Given the description of an element on the screen output the (x, y) to click on. 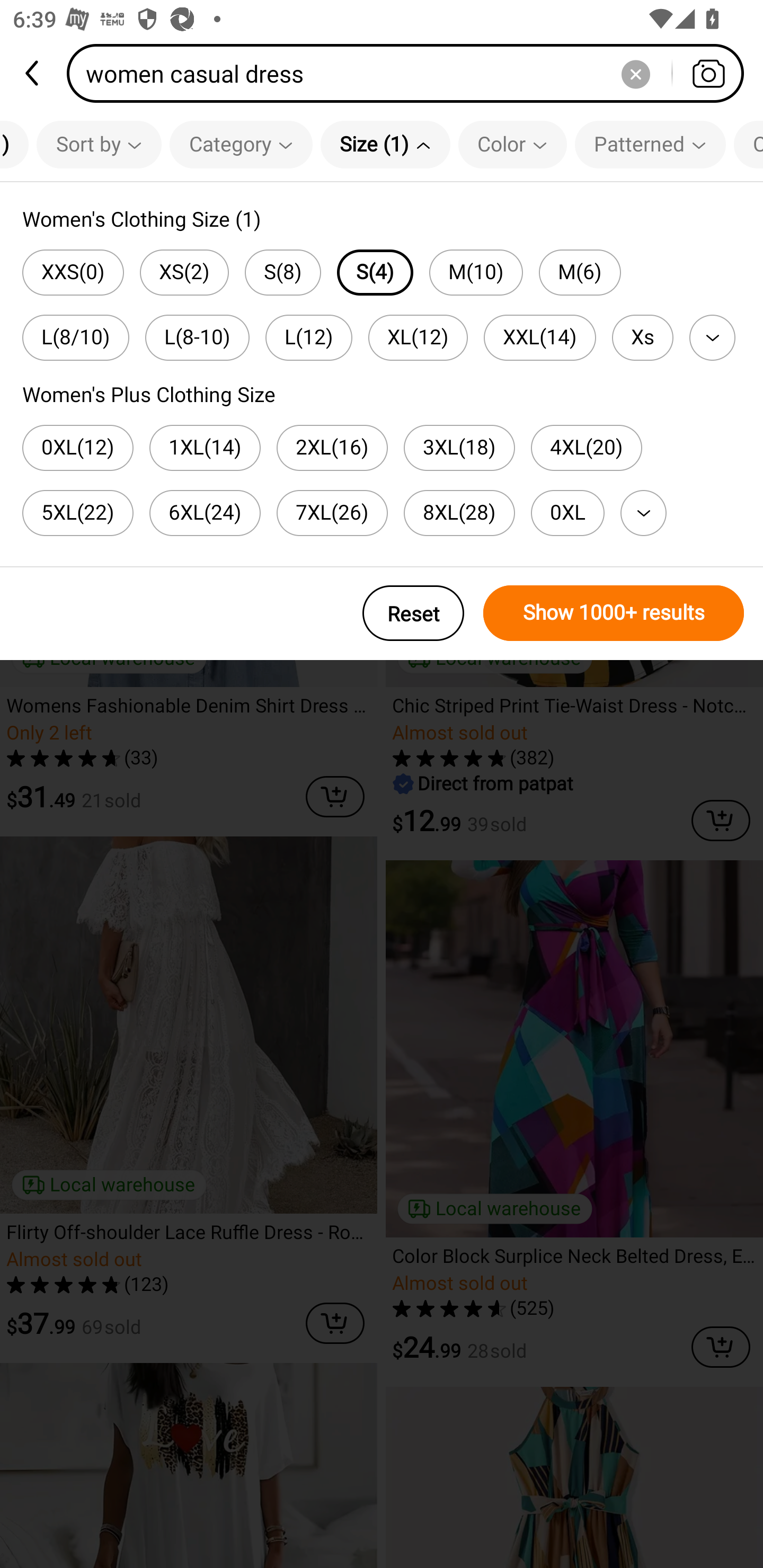
back (33, 72)
women casual dress (411, 73)
Delete search history (635, 73)
Search by photo (708, 73)
Sort by (98, 143)
Category (240, 143)
Size (1) (385, 143)
Color (512, 143)
Patterned (649, 143)
Deals (73, 273)
XS(2) (183, 272)
S(8) (282, 272)
S(4) (375, 272)
M(10) (475, 272)
M(6) (579, 272)
L(8/10) (75, 337)
L(8-10) (196, 337)
L(12) (308, 337)
XL(12) (417, 337)
XXL(14) (539, 337)
Xs (642, 337)
More (711, 337)
0XL(12) (77, 447)
1XL(14) (204, 447)
2XL(16) (331, 447)
3XL(18) (459, 447)
4XL(20) (586, 447)
5XL(22) (77, 512)
6XL(24) (204, 512)
7XL(26) (331, 512)
8XL(28) (459, 512)
0XL (567, 512)
More (643, 512)
Reset (412, 612)
Show 1000+ results (612, 612)
